Given the description of an element on the screen output the (x, y) to click on. 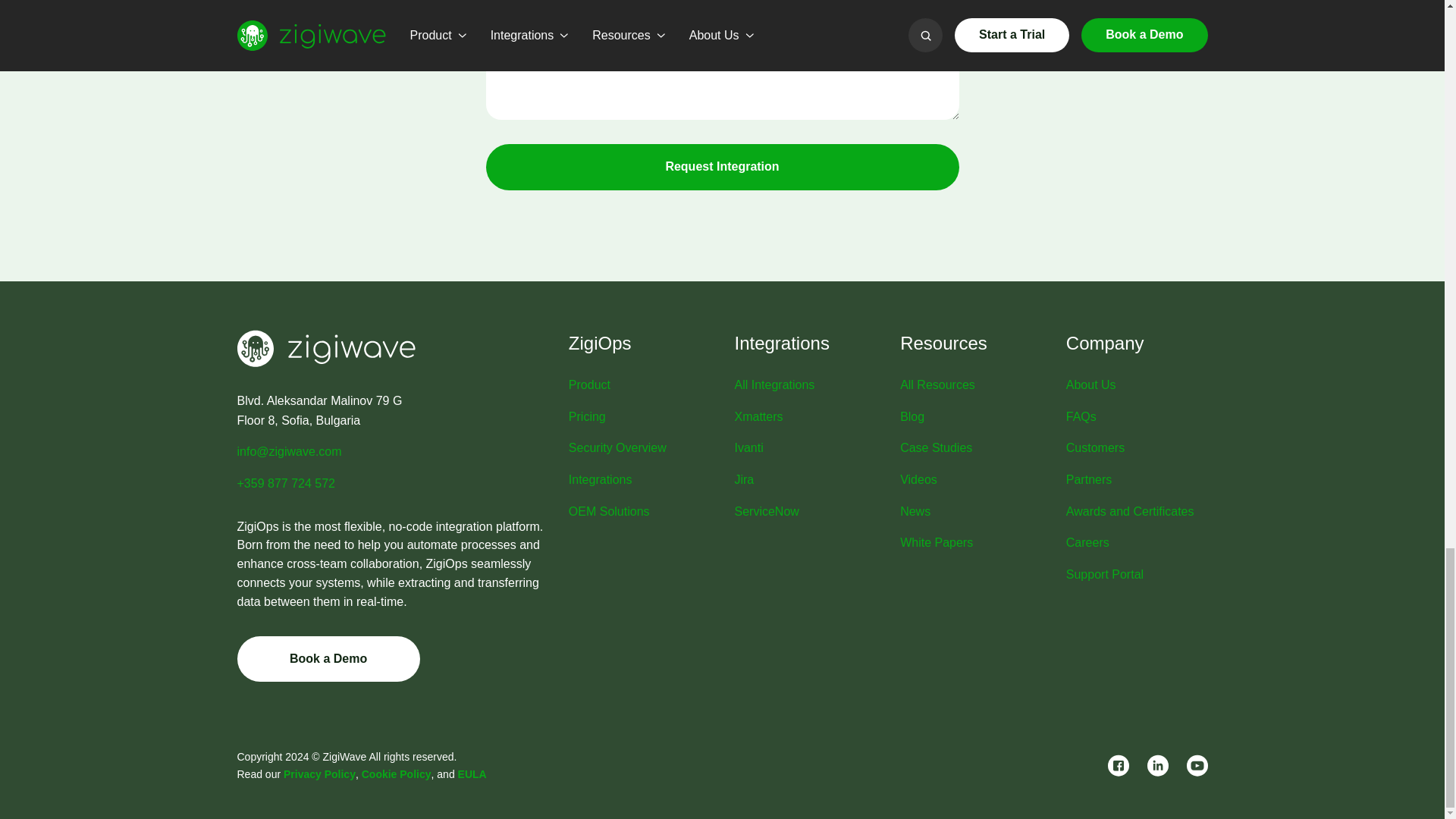
Request Integration (721, 167)
